Given the description of an element on the screen output the (x, y) to click on. 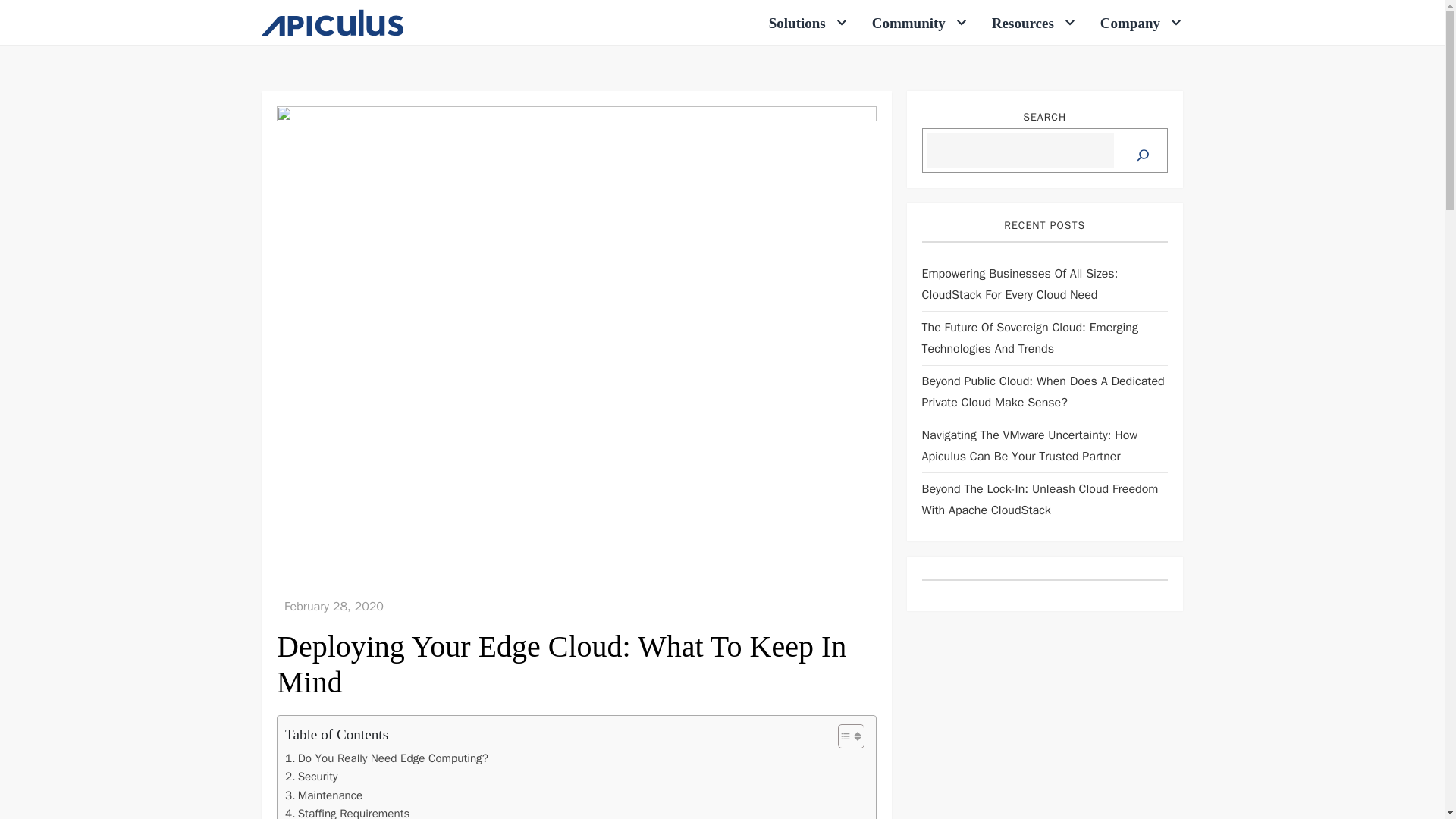
Community (918, 22)
Resources (1033, 22)
February 28, 2020 (333, 606)
Maintenance (323, 795)
Company (1139, 22)
Security (311, 776)
Solutions (807, 22)
Maintenance (323, 795)
Staffing Requirements (347, 811)
Do You Really Need Edge Computing? (386, 758)
Security (311, 776)
Do You Really Need Edge Computing? (386, 758)
Staffing Requirements (347, 811)
